Given the description of an element on the screen output the (x, y) to click on. 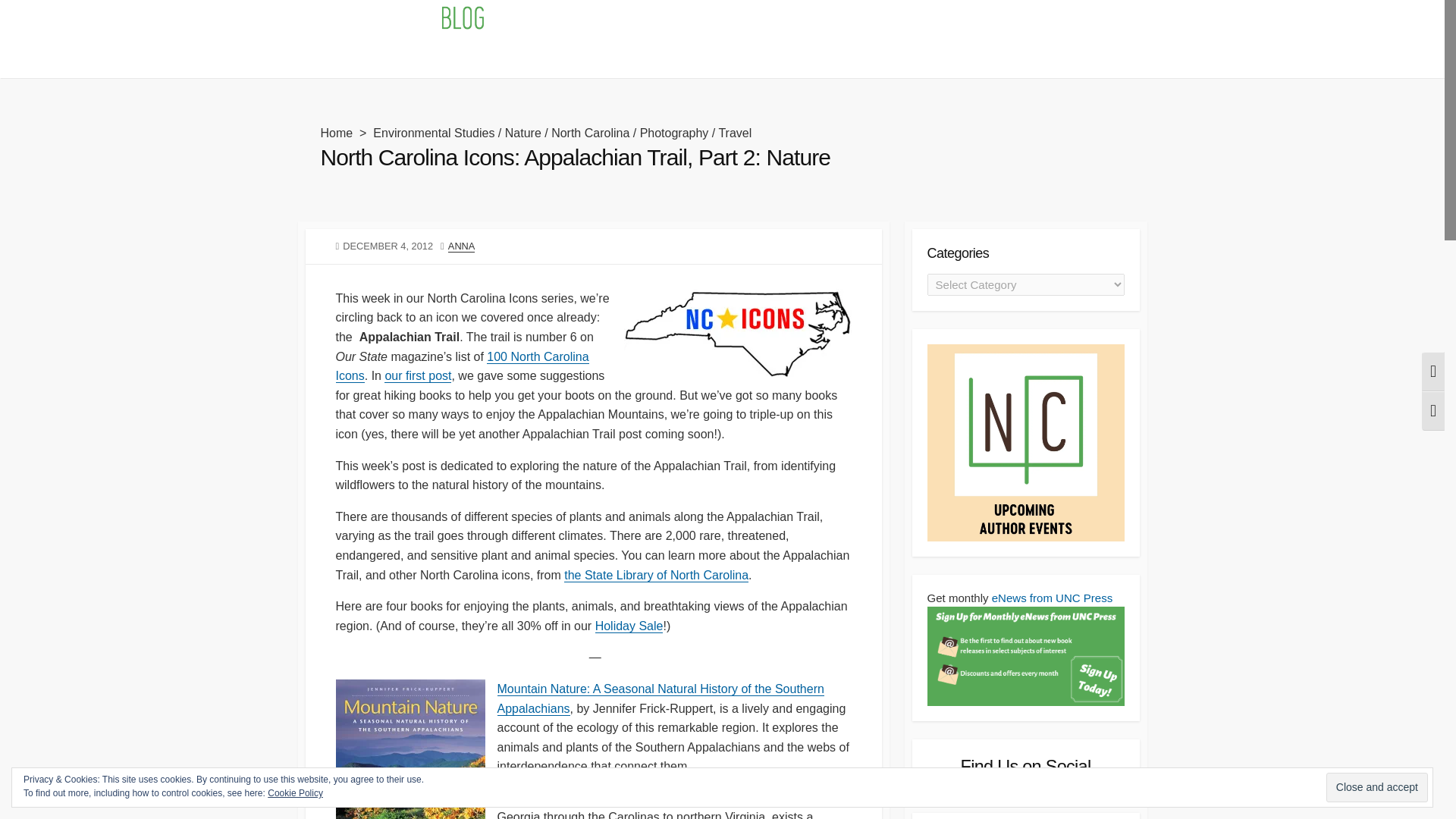
Blog Home (334, 58)
Holiday Sale (629, 625)
Photography (674, 132)
Posts by Anna (462, 245)
UNC Press Blog (399, 20)
Award Winners (665, 58)
our first post (417, 375)
100 North Carolina Icons (461, 366)
Travel (734, 132)
NC Icons: Appalachian Trail (417, 375)
Upcoming Author Events (547, 58)
Environmental Studies (433, 132)
UNC Press Home (424, 58)
